Given the description of an element on the screen output the (x, y) to click on. 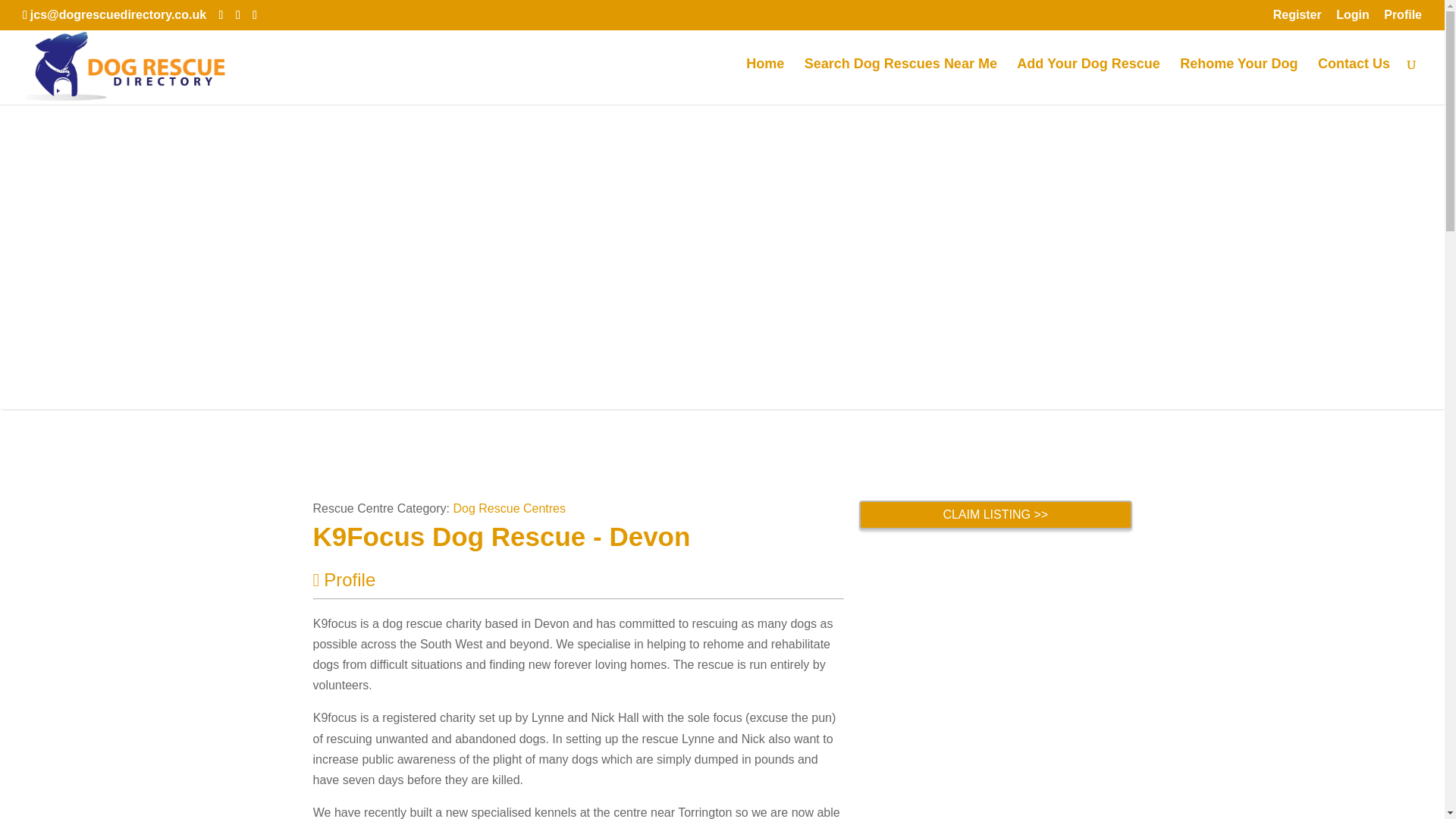
Profile (344, 579)
Profile (1403, 19)
Rehome Your Dog (1238, 81)
Search Dog Rescues Near Me (901, 81)
Register (1297, 19)
Add Your Dog Rescue (1087, 81)
Contact Us (1353, 81)
Login (1353, 19)
Dog Rescue Centres (509, 508)
K9Focus Dog Rescue - Devon (501, 536)
